Given the description of an element on the screen output the (x, y) to click on. 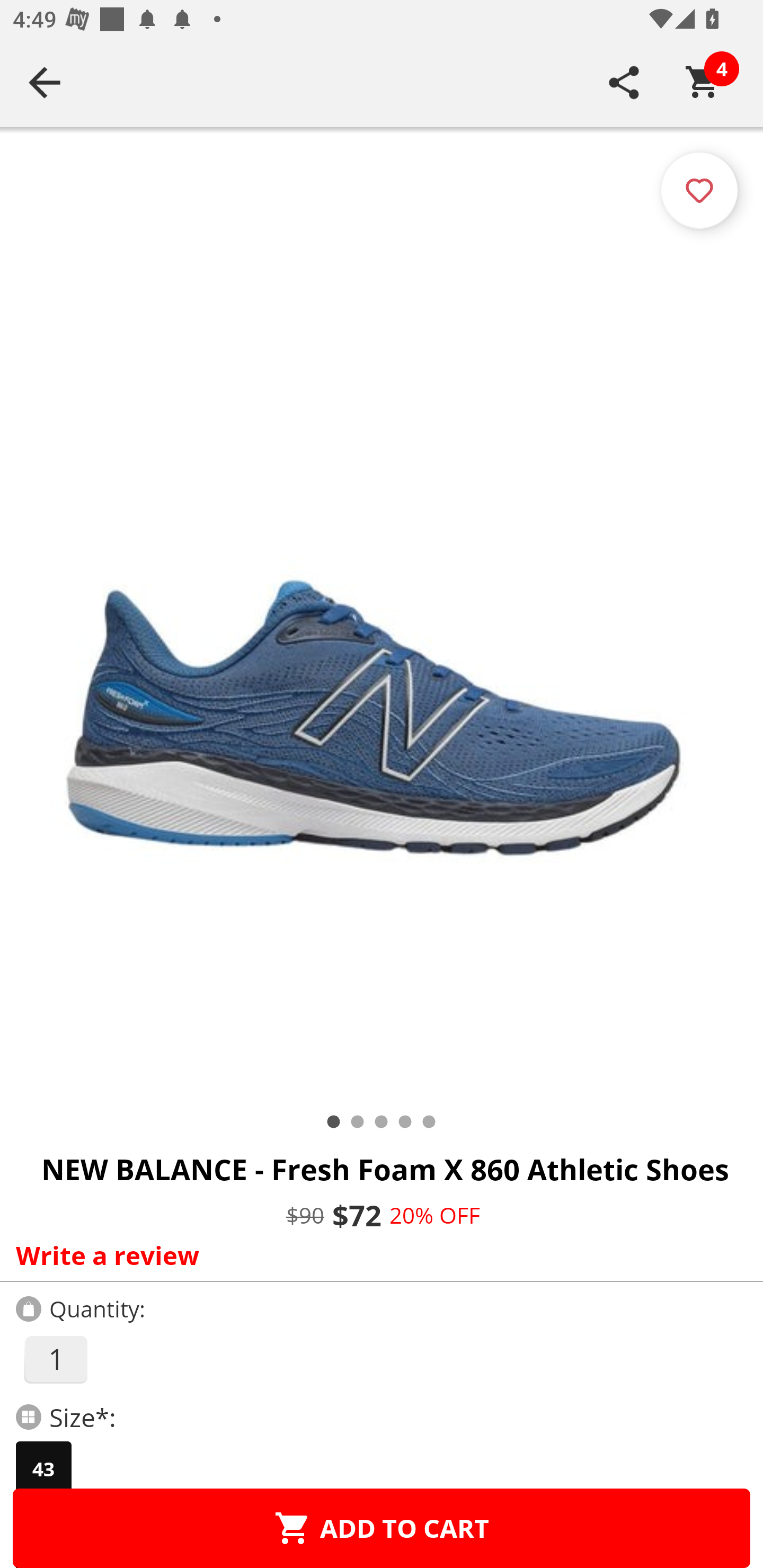
Navigate up (44, 82)
SHARE (623, 82)
Cart (703, 81)
Write a review (377, 1255)
1 (55, 1358)
43 (43, 1468)
ADD TO CART (381, 1528)
